Given the description of an element on the screen output the (x, y) to click on. 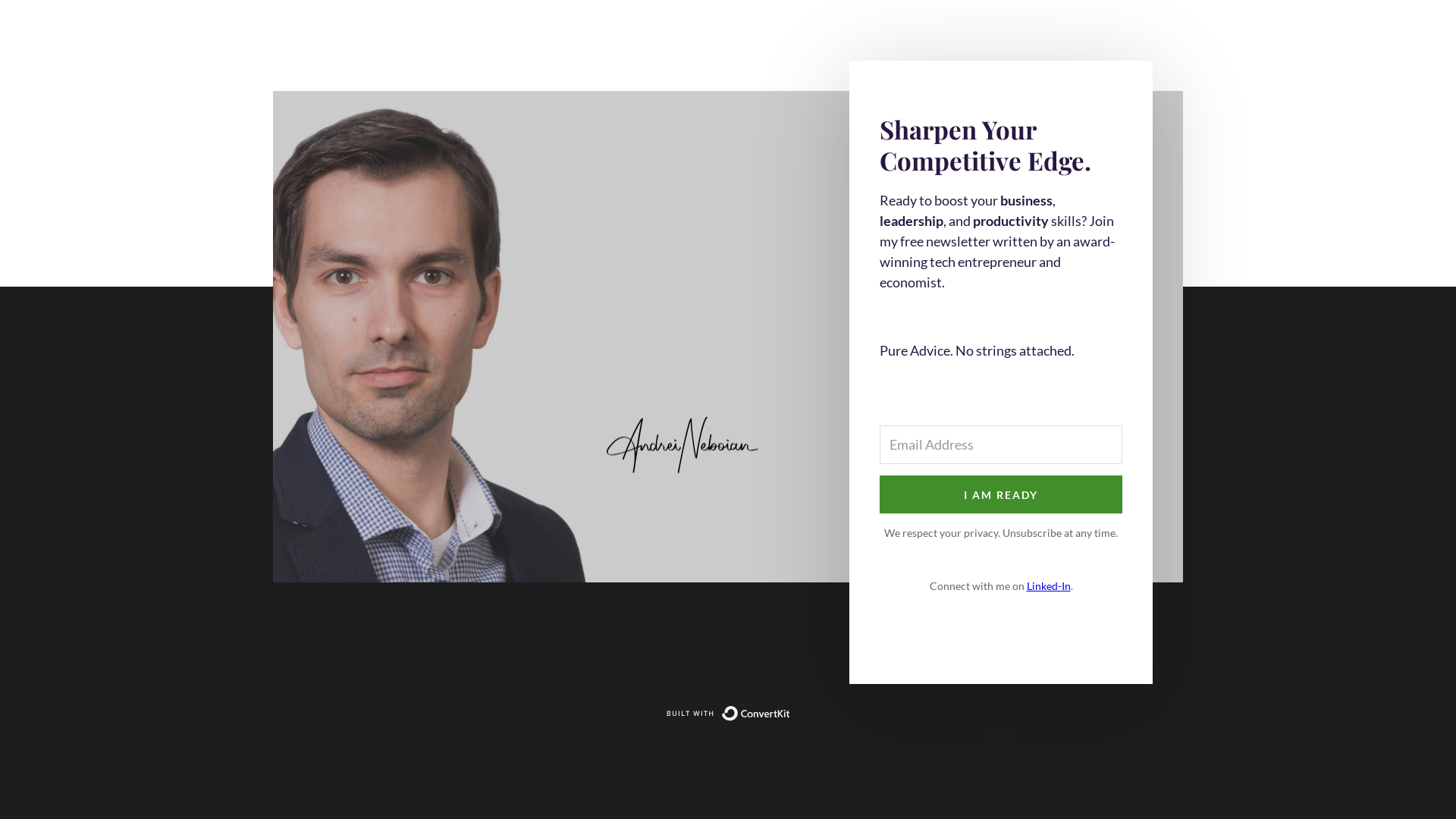
Powered By ConvertKit Element type: text (727, 713)
I AM READY Element type: text (1000, 494)
Linked-In Element type: text (1048, 585)
